Given the description of an element on the screen output the (x, y) to click on. 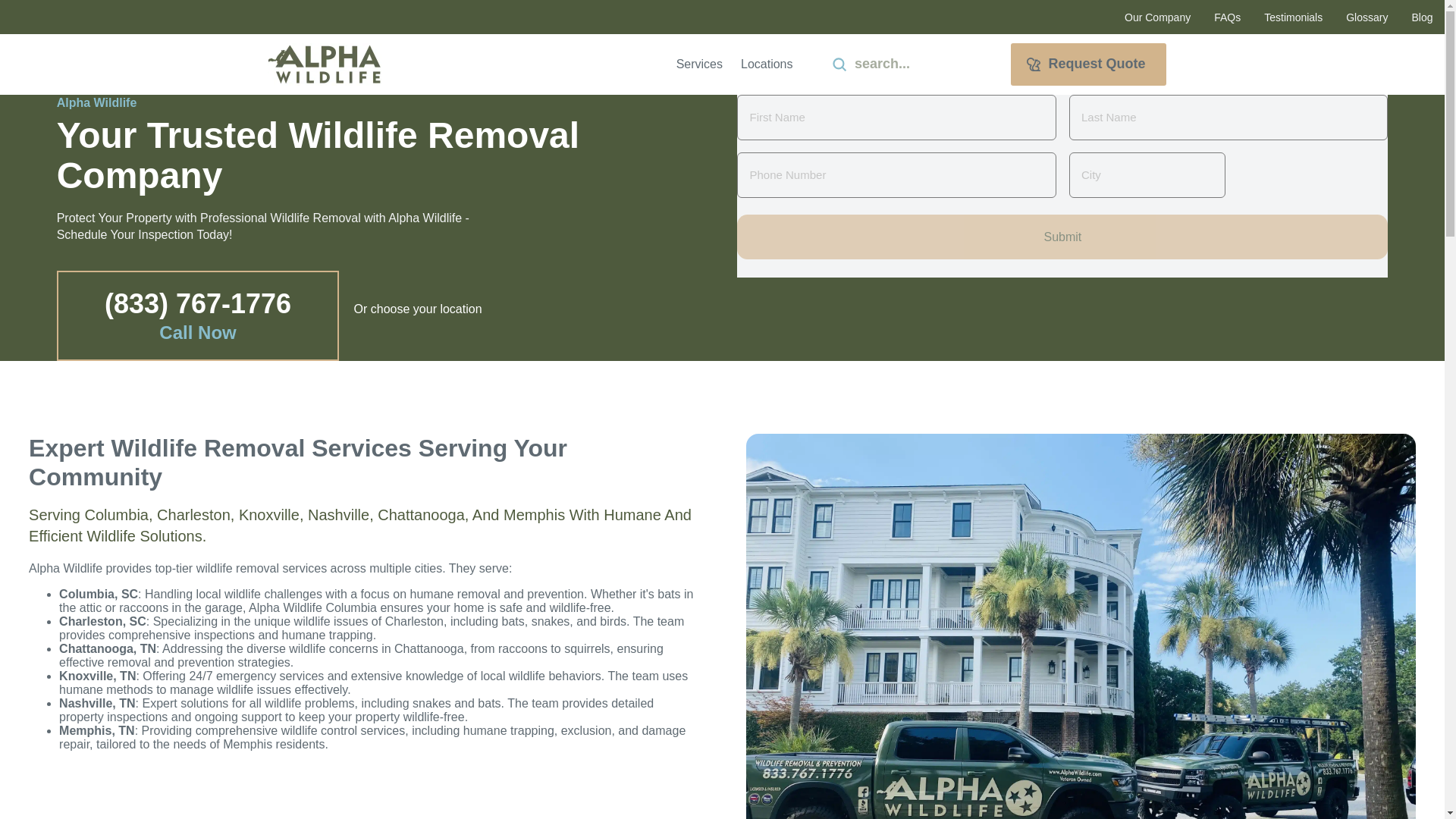
Request Quote (1088, 64)
Glossary (1367, 17)
Submit (1061, 236)
Our Company (1157, 17)
FAQs (1227, 17)
Submit (1061, 236)
Testimonials (1293, 17)
Submit (838, 64)
